Given the description of an element on the screen output the (x, y) to click on. 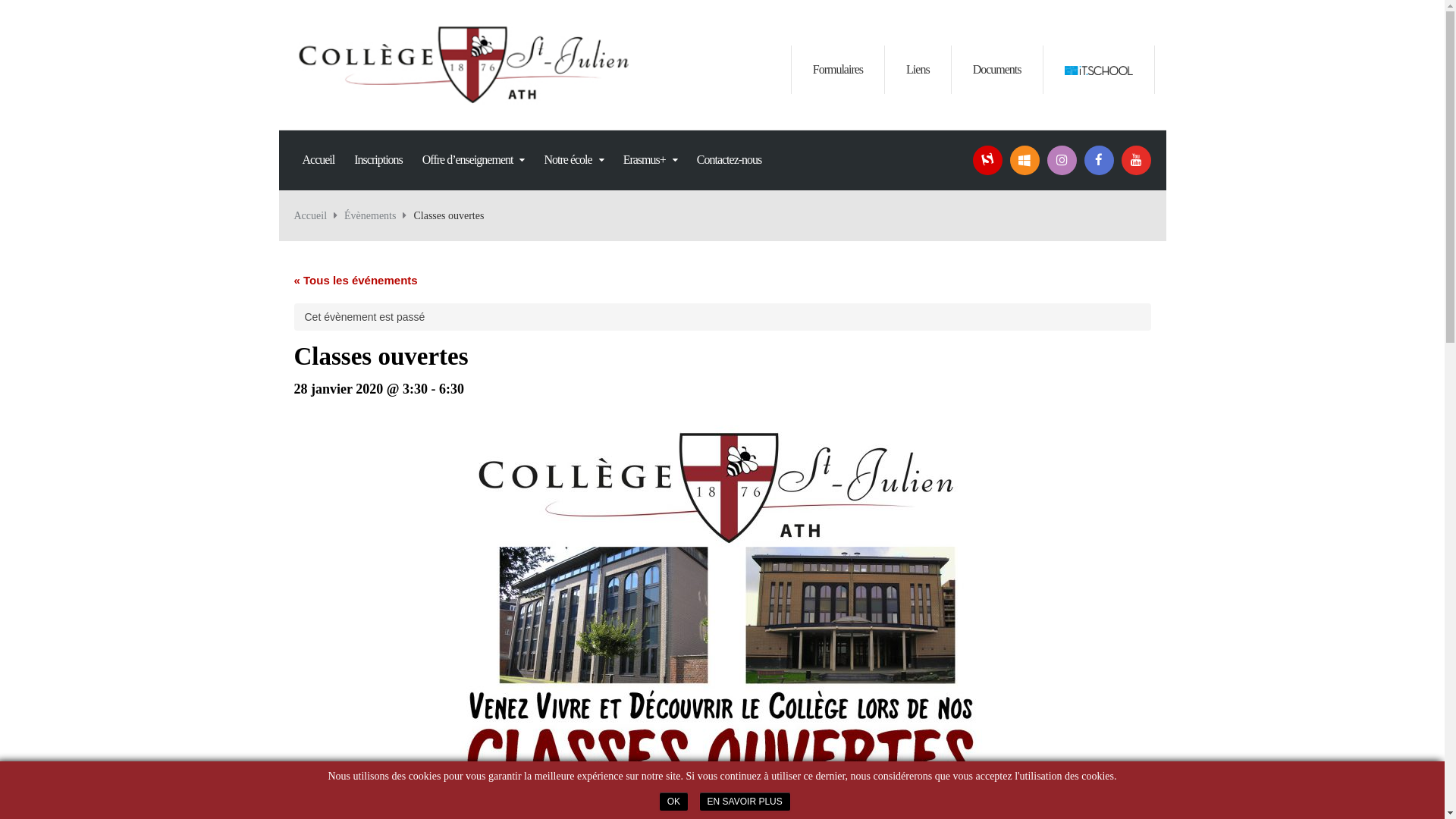
EN SAVOIR PLUS Element type: text (744, 801)
OK Element type: text (673, 801)
YouTube Element type: hover (1135, 160)
Instagram Element type: hover (1061, 160)
Formulaires Element type: text (837, 69)
Erasmus+ Element type: text (650, 149)
Office 365 Element type: hover (1024, 160)
Liens Element type: text (917, 69)
Accueil Element type: text (310, 215)
Facebook Element type: hover (1098, 160)
Accueil Element type: text (317, 149)
Contactez-nous Element type: text (729, 149)
Documents Element type: text (997, 69)
Inscriptions Element type: text (378, 149)
